Given the description of an element on the screen output the (x, y) to click on. 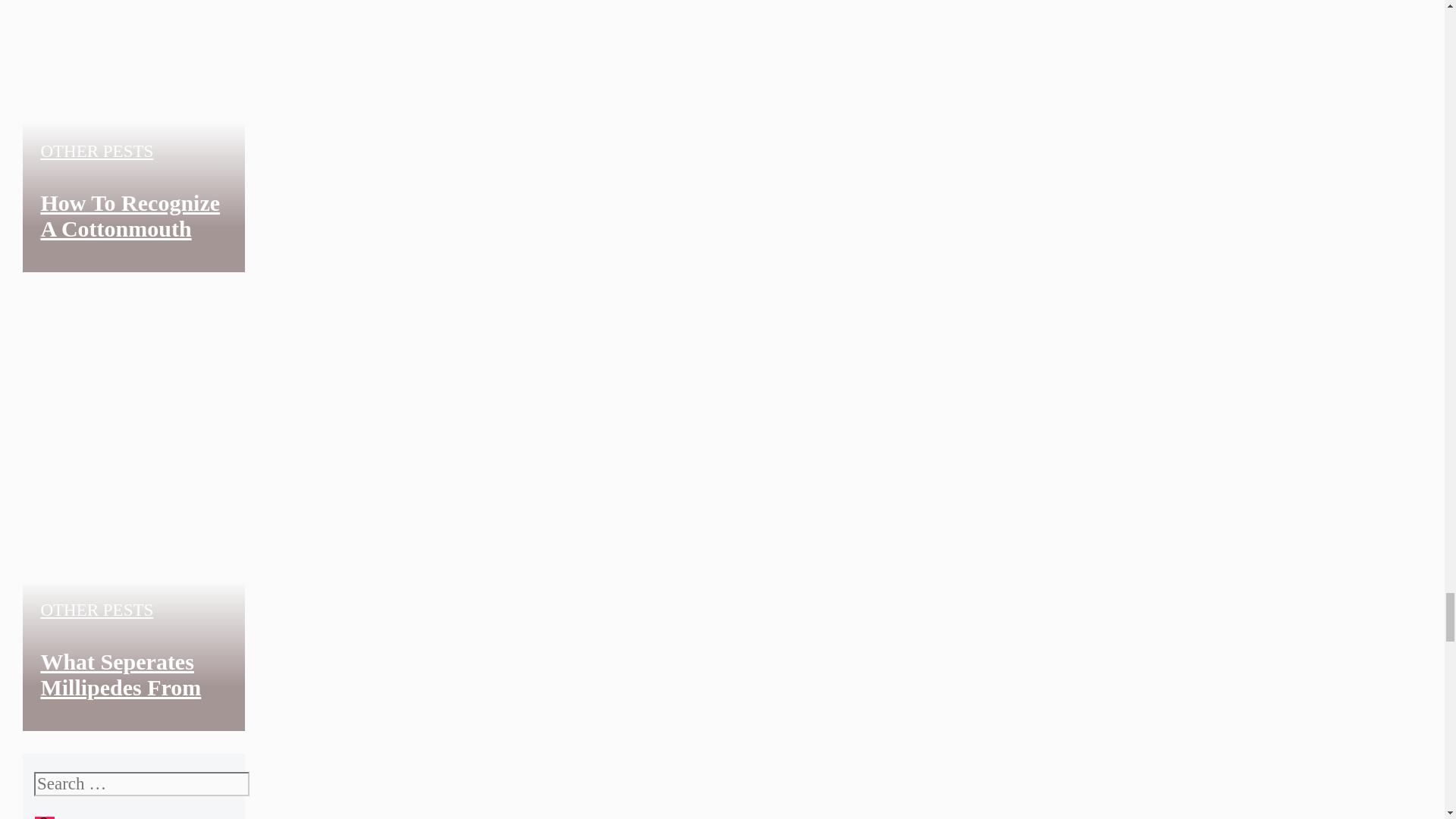
OTHER PESTS (96, 150)
What Seperates Millipedes From Centipedes (120, 687)
How To Recognize A Cottonmouth (129, 215)
OTHER PESTS (96, 609)
